Given the description of an element on the screen output the (x, y) to click on. 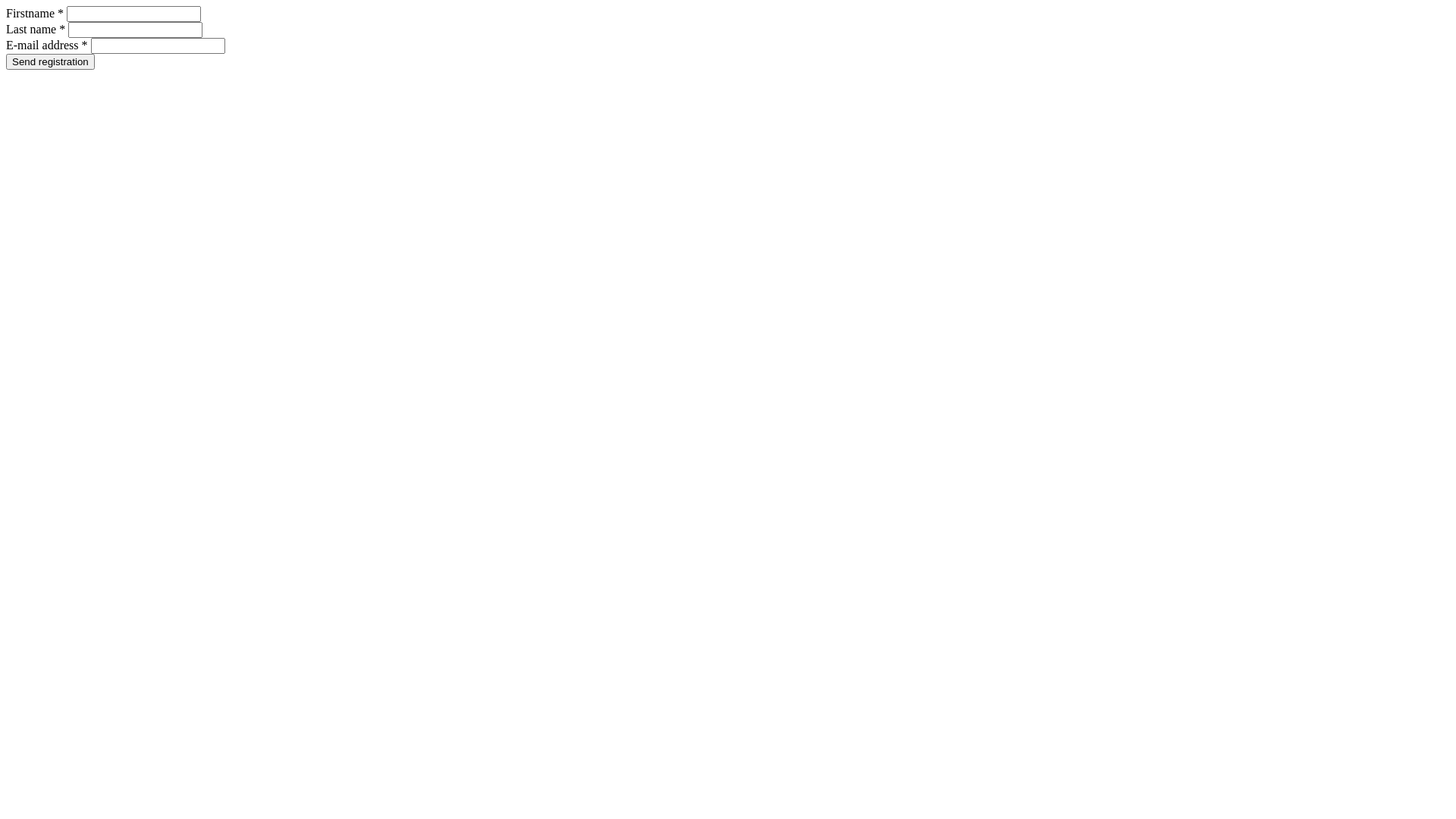
Send registration Element type: text (50, 61)
